Given the description of an element on the screen output the (x, y) to click on. 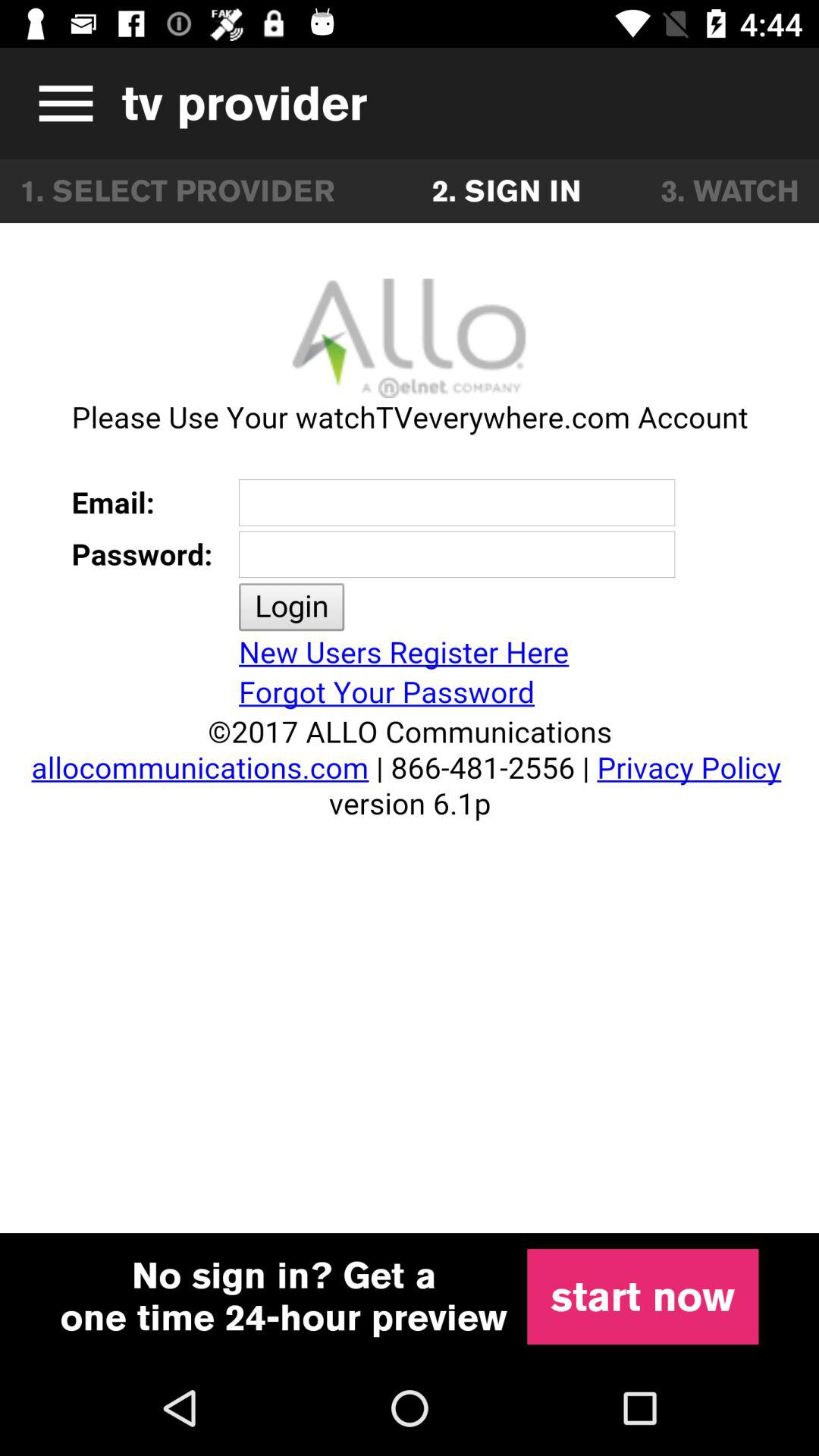
open main menu (60, 103)
